Given the description of an element on the screen output the (x, y) to click on. 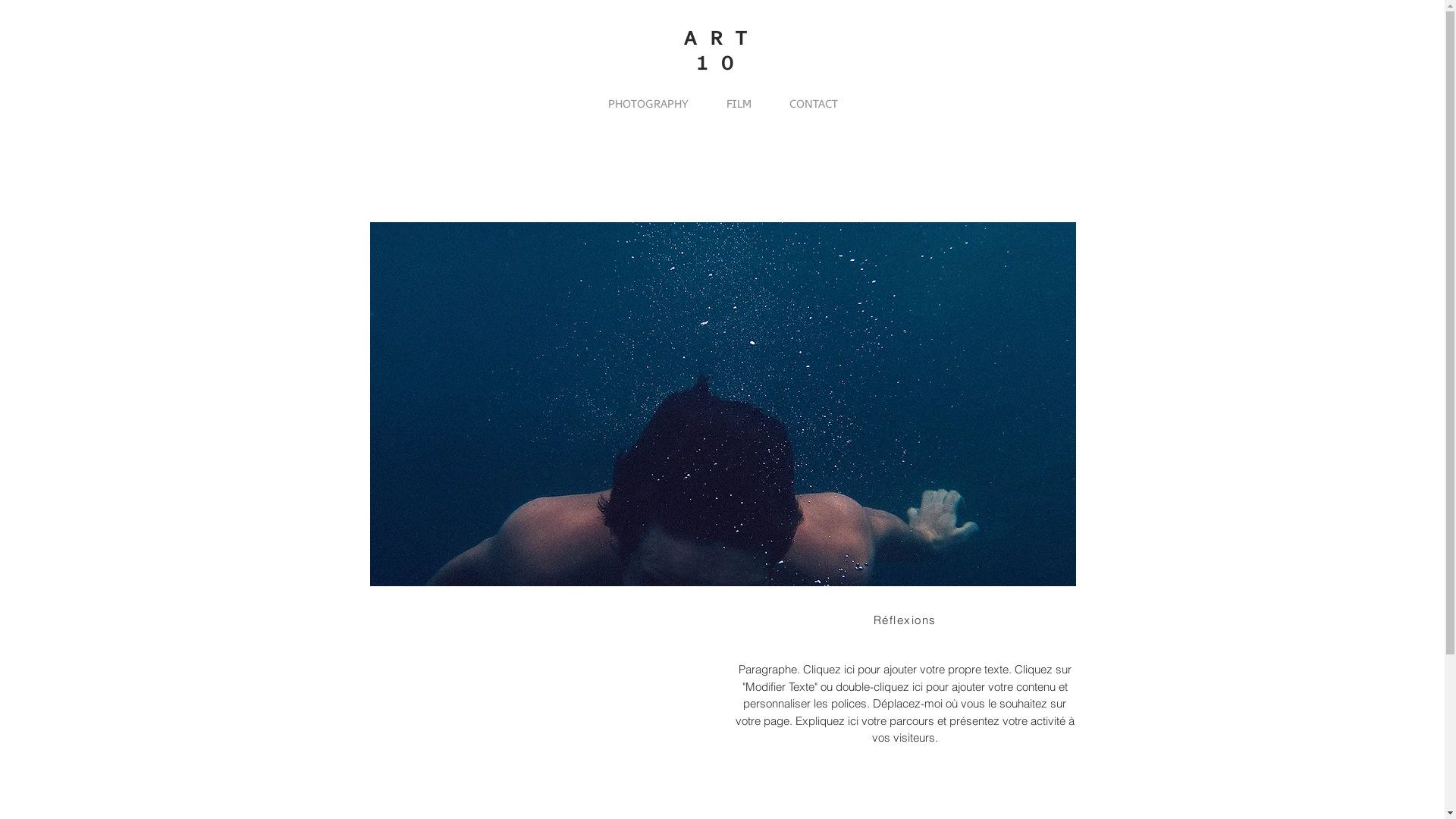
CONTACT Element type: text (813, 104)
ART 10 Element type: text (722, 50)
FILM Element type: text (737, 104)
PHOTOGRAPHY Element type: text (647, 104)
